Given the description of an element on the screen output the (x, y) to click on. 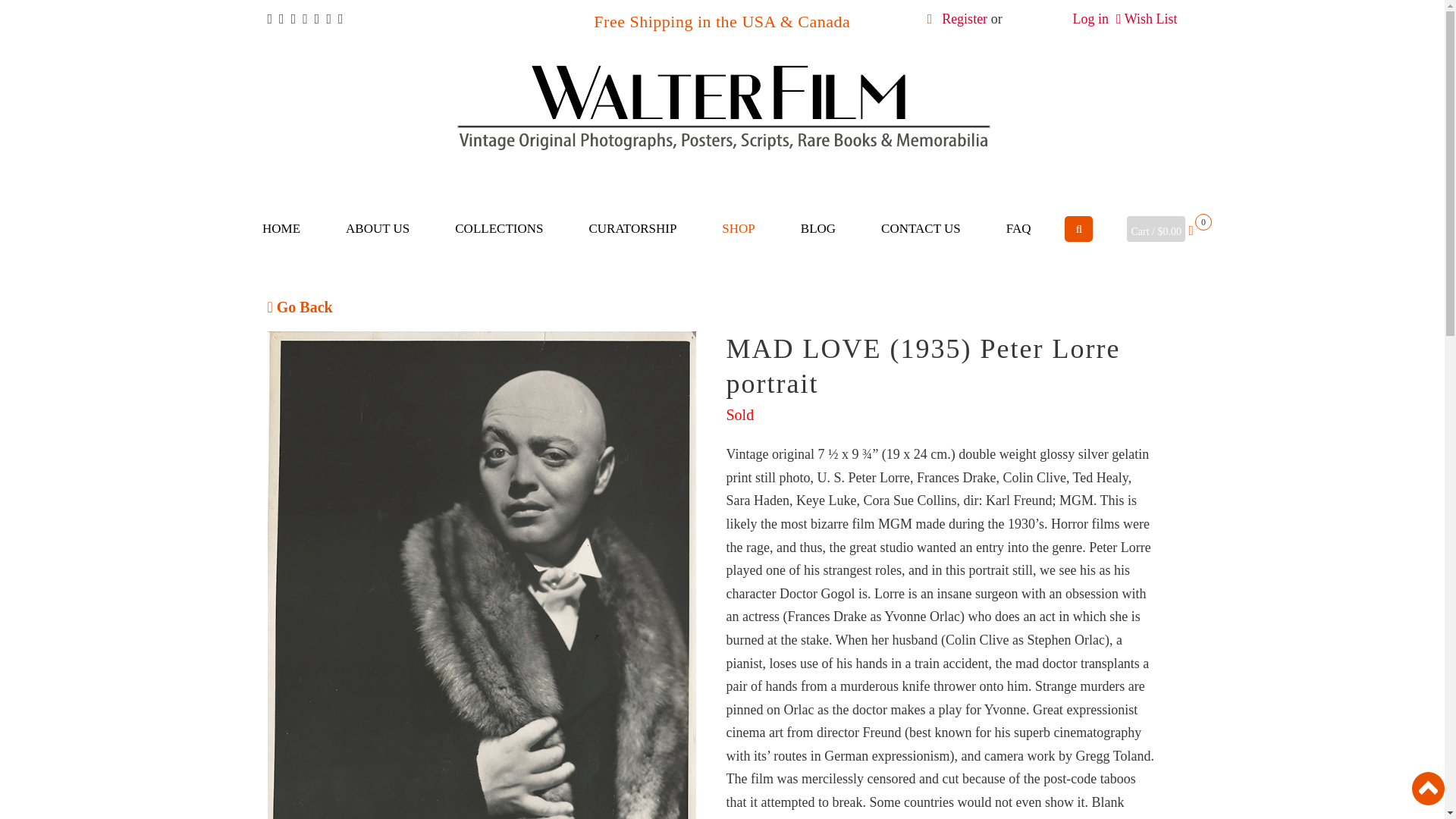
Register (964, 18)
Log in (1089, 18)
COLLECTIONS (499, 229)
HOME (280, 229)
BLOG (818, 229)
ABOUT US (377, 229)
Wish List (1150, 18)
CURATORSHIP (631, 229)
CONTACT US (920, 229)
SHOP (737, 229)
